Given the description of an element on the screen output the (x, y) to click on. 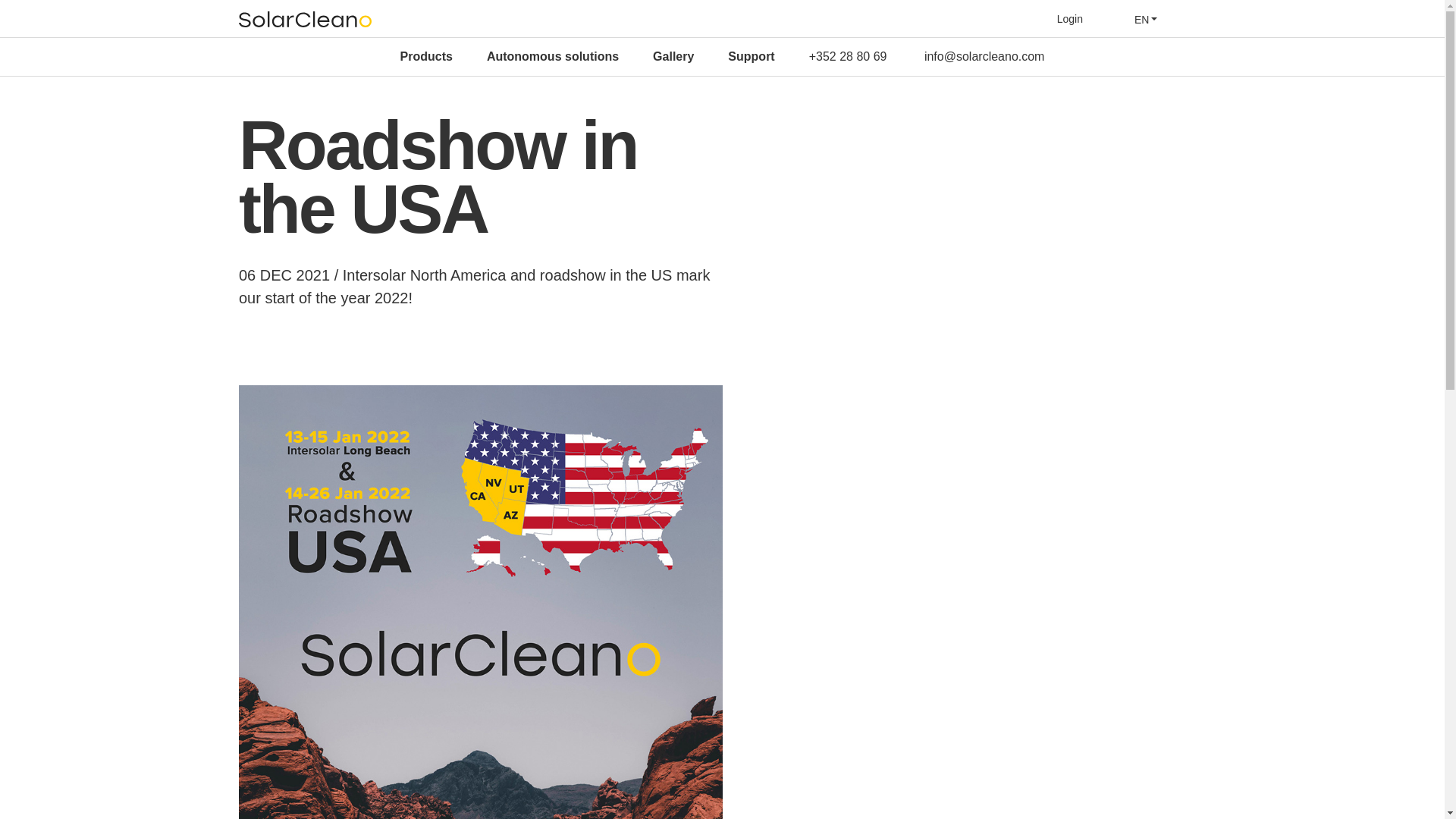
Login (1070, 19)
News (671, 55)
Support (751, 56)
Digital Catalogue (772, 55)
Menu (1197, 18)
Gallery (673, 56)
About (601, 55)
Login (1070, 19)
Products (426, 56)
Autonomous solutions (552, 56)
SolarCleano Home (304, 18)
